Given the description of an element on the screen output the (x, y) to click on. 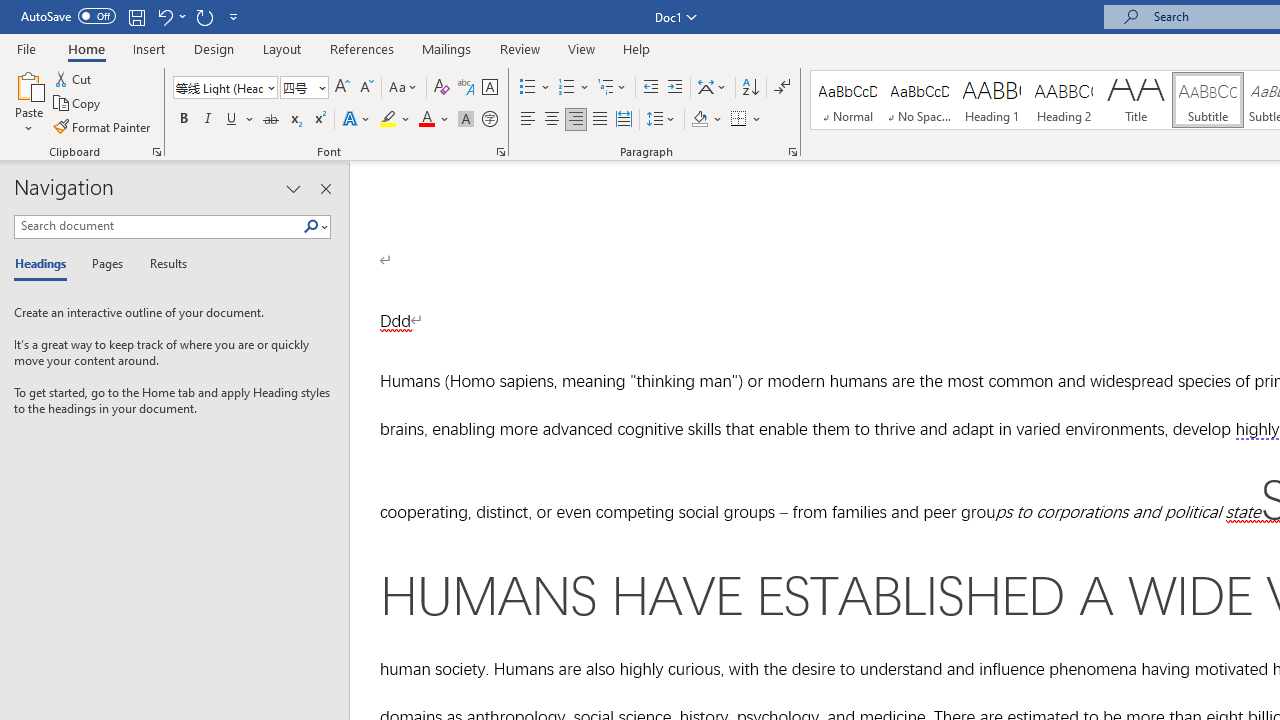
Bold (183, 119)
Heading 1 (991, 100)
Superscript (319, 119)
Increase Indent (675, 87)
Office Clipboard... (156, 151)
Asian Layout (712, 87)
Font... (500, 151)
Undo Paragraph Alignment (170, 15)
